Given the description of an element on the screen output the (x, y) to click on. 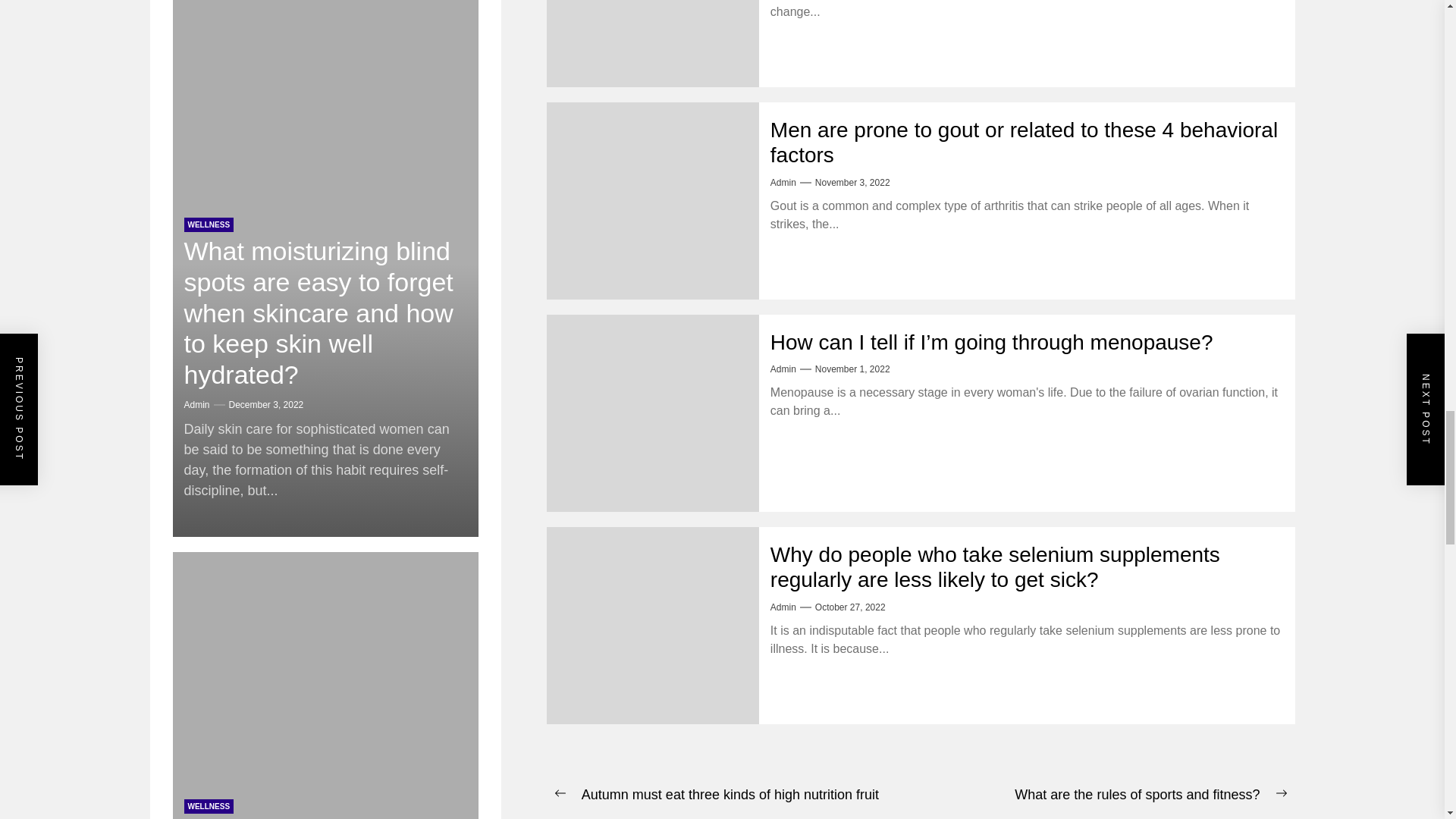
November 3, 2022 (852, 182)
Admin (783, 182)
